Given the description of an element on the screen output the (x, y) to click on. 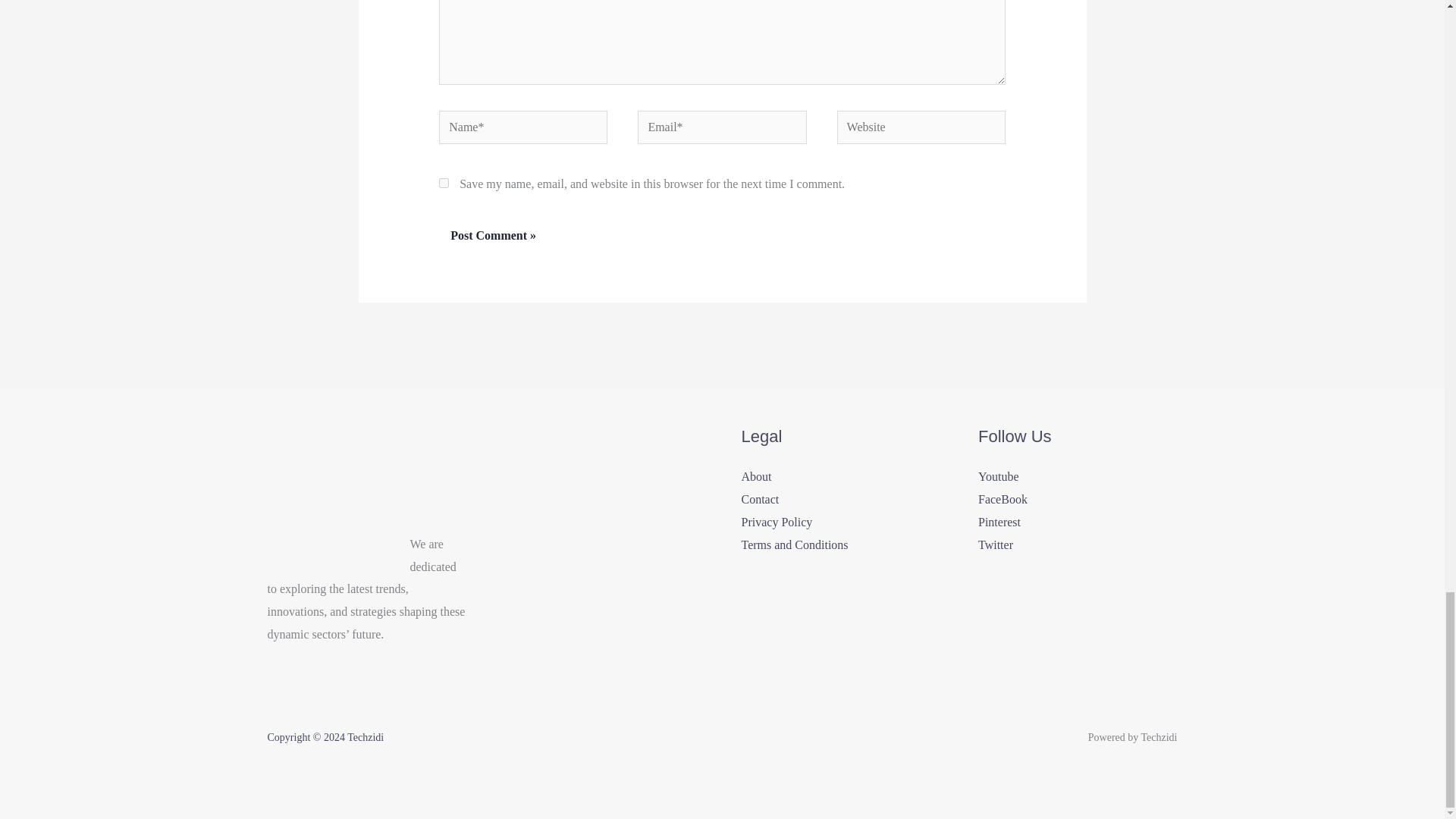
yes (443, 183)
